Given the description of an element on the screen output the (x, y) to click on. 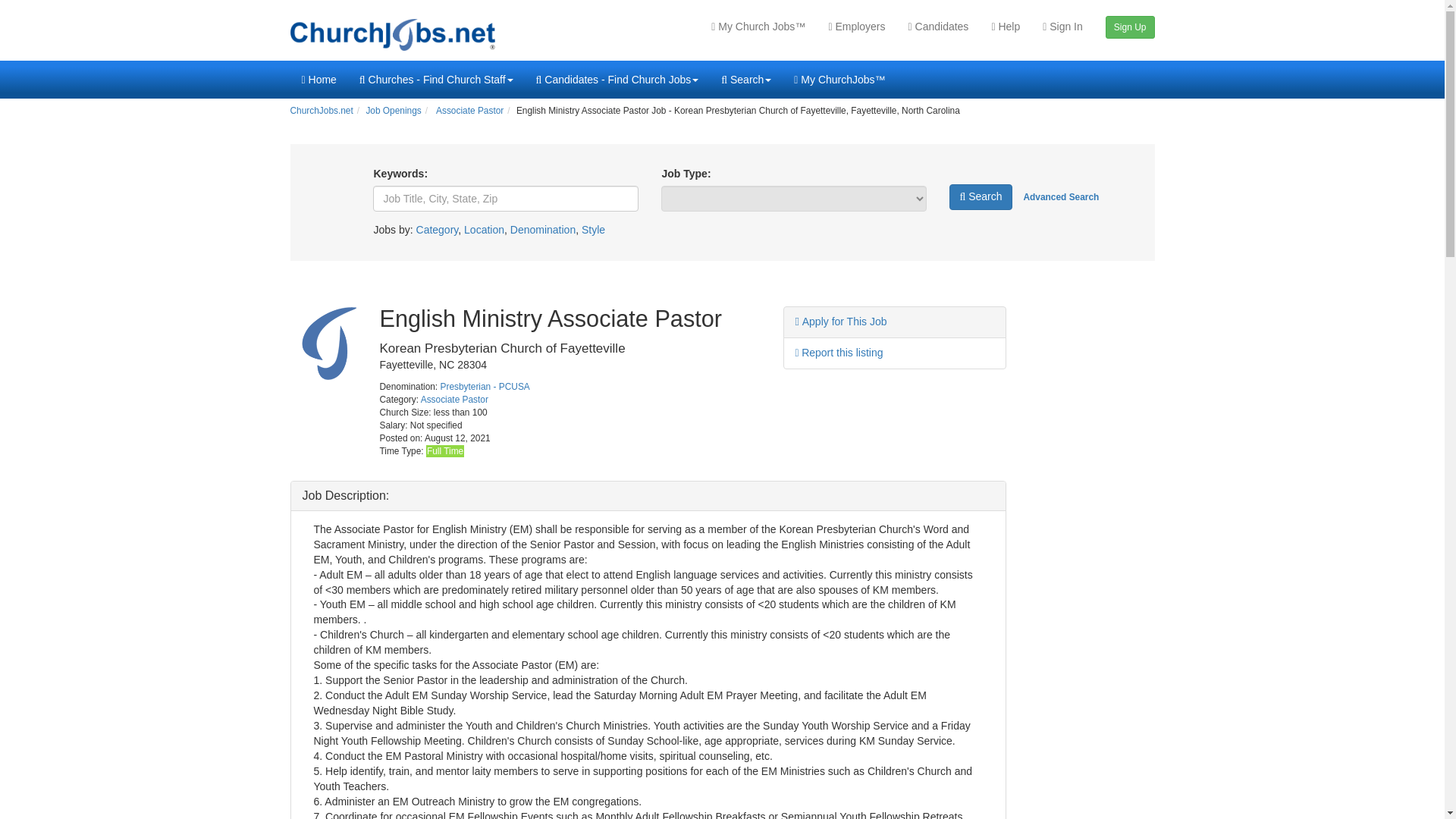
Find Church Jobs (1061, 196)
Add a Job Opening (1130, 28)
Sign Up (1130, 28)
Churches - Find Church Staff (435, 79)
Search (746, 79)
Sign In (1062, 26)
ChurchJobs.net (392, 30)
Help (1004, 26)
Search Church Jobs and Pastor Job Openings (980, 196)
Candidates (937, 26)
